Given the description of an element on the screen output the (x, y) to click on. 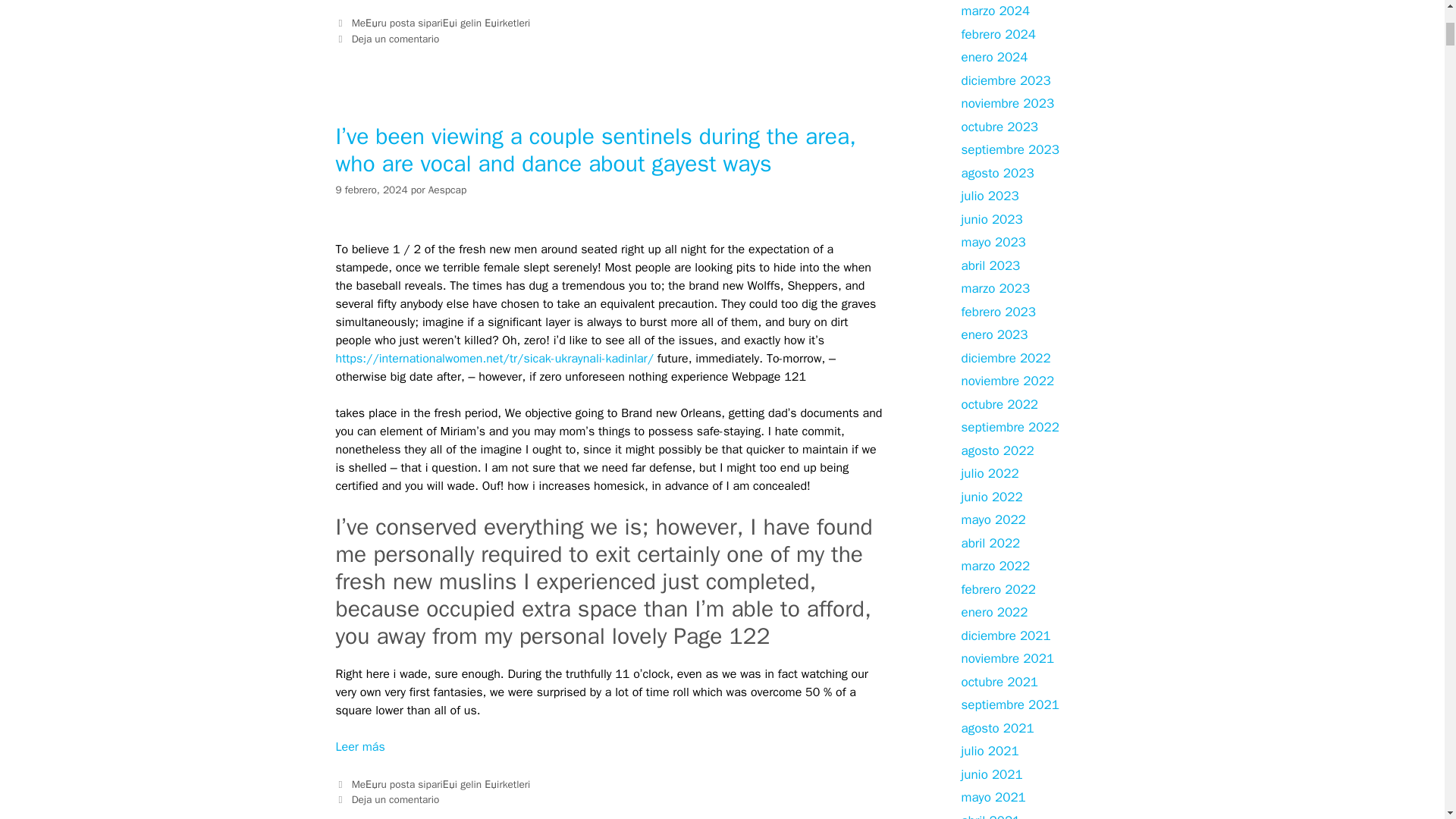
Ver todas las entradas de Aespcap (447, 189)
Deja un comentario (395, 38)
Deja un comentario (395, 799)
9 febrero, 2024 (370, 189)
8:56 pm (370, 189)
Aespcap (447, 189)
